Given the description of an element on the screen output the (x, y) to click on. 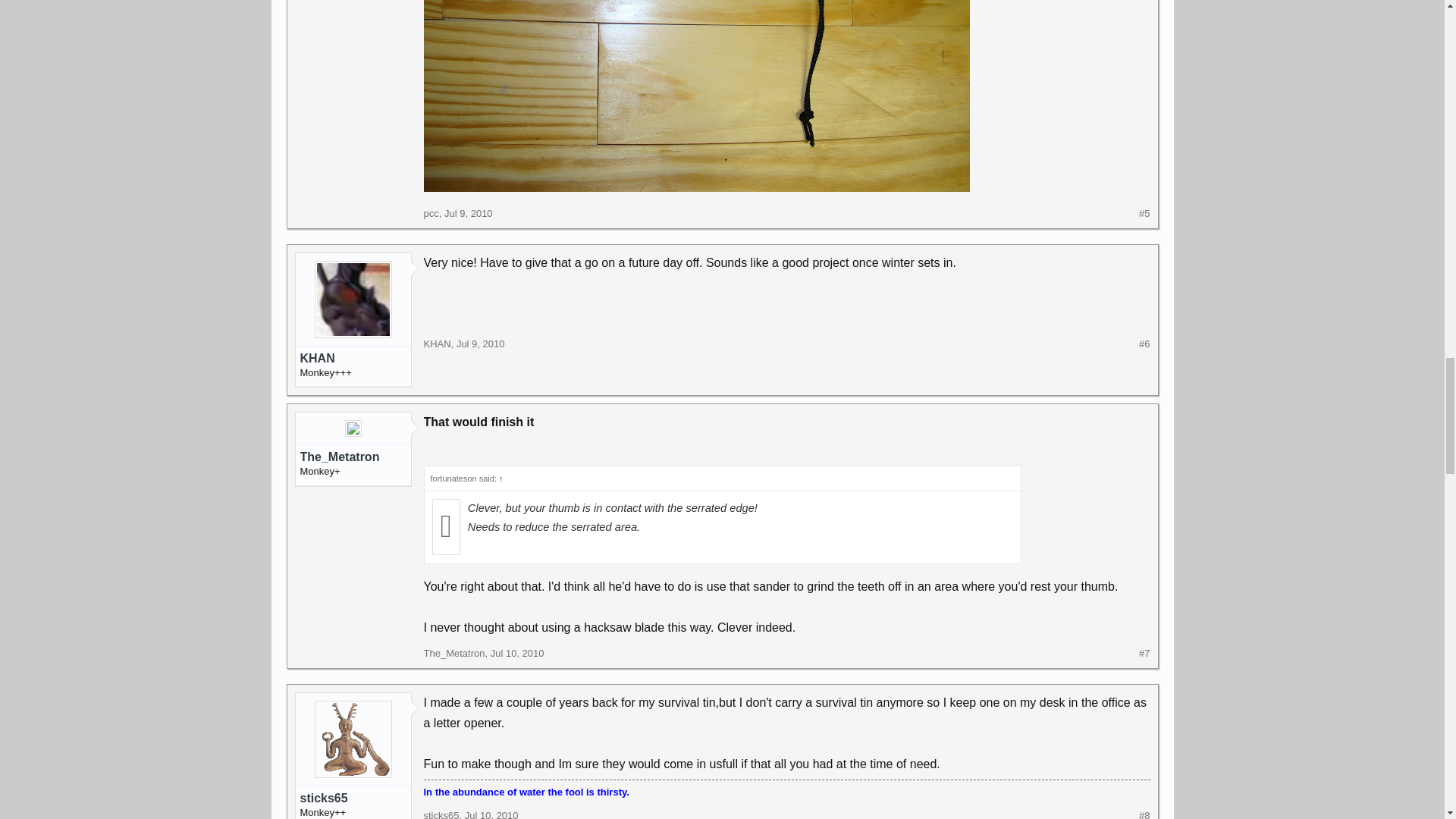
Permalink (468, 213)
pcc (430, 213)
Jul 9, 2010 (468, 213)
